Given the description of an element on the screen output the (x, y) to click on. 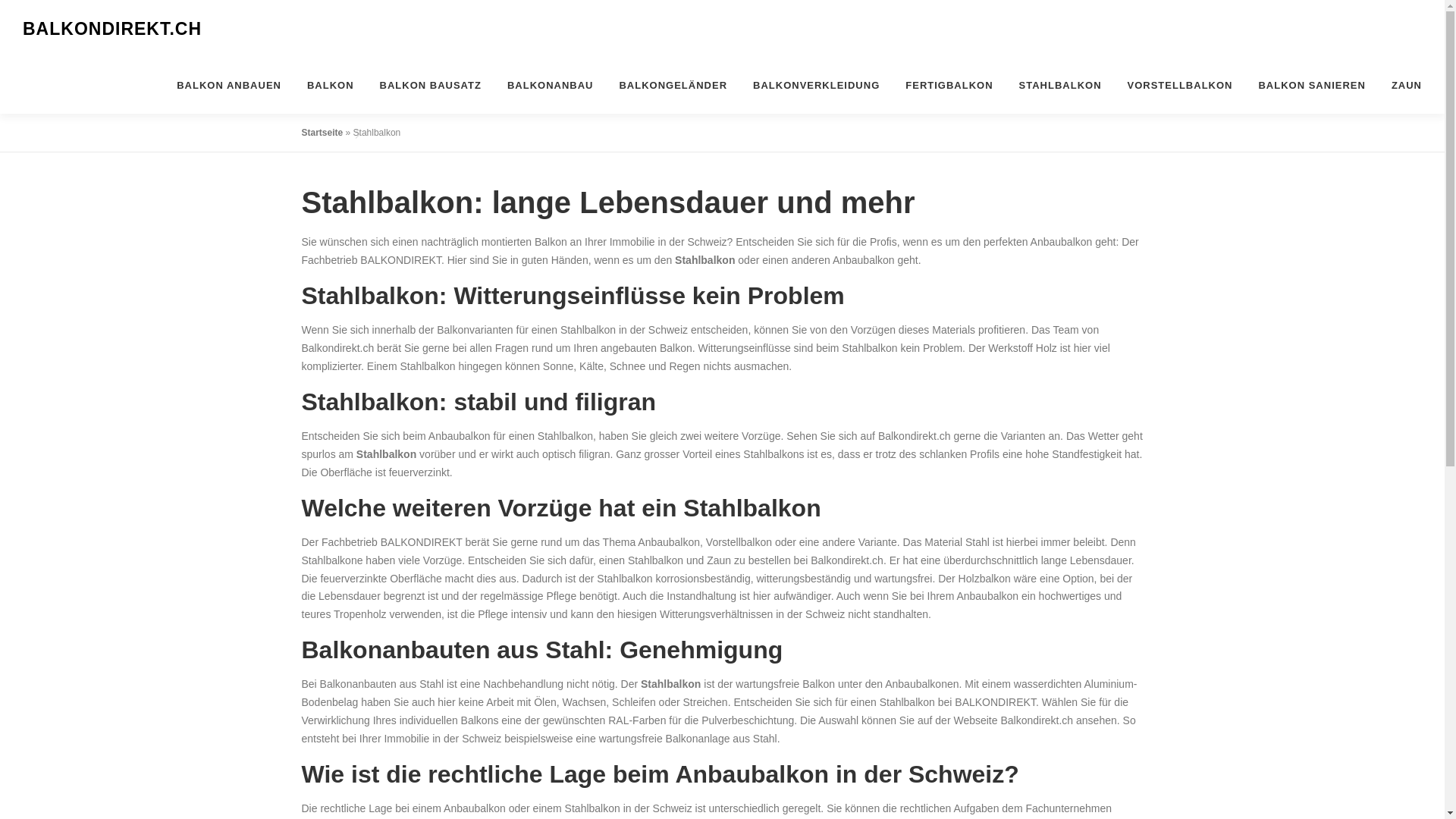
ZAUN Element type: text (1399, 84)
VORSTELLBALKON Element type: text (1179, 84)
FERTIGBALKON Element type: text (948, 84)
BALKON BAUSATZ Element type: text (430, 84)
BALKONVERKLEIDUNG Element type: text (816, 84)
BALKON Element type: text (330, 84)
Startseite Element type: text (322, 132)
STAHLBALKON Element type: text (1060, 84)
BALKON ANBAUEN Element type: text (228, 84)
BALKONANBAU Element type: text (550, 84)
BALKON SANIEREN Element type: text (1311, 84)
BALKONDIREKT.CH Element type: text (111, 29)
